Given the description of an element on the screen output the (x, y) to click on. 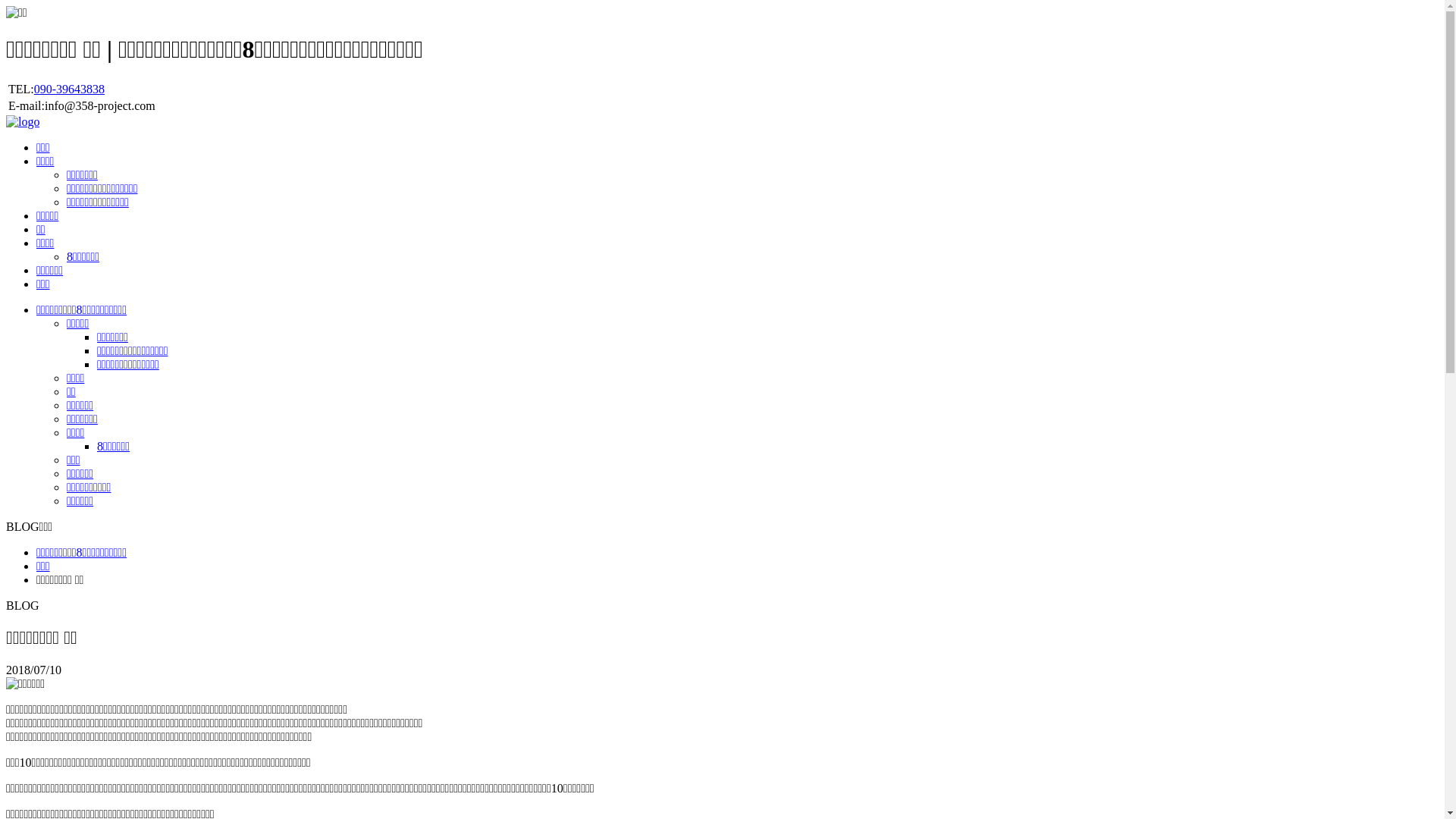
090-39643838 Element type: text (69, 88)
